Given the description of an element on the screen output the (x, y) to click on. 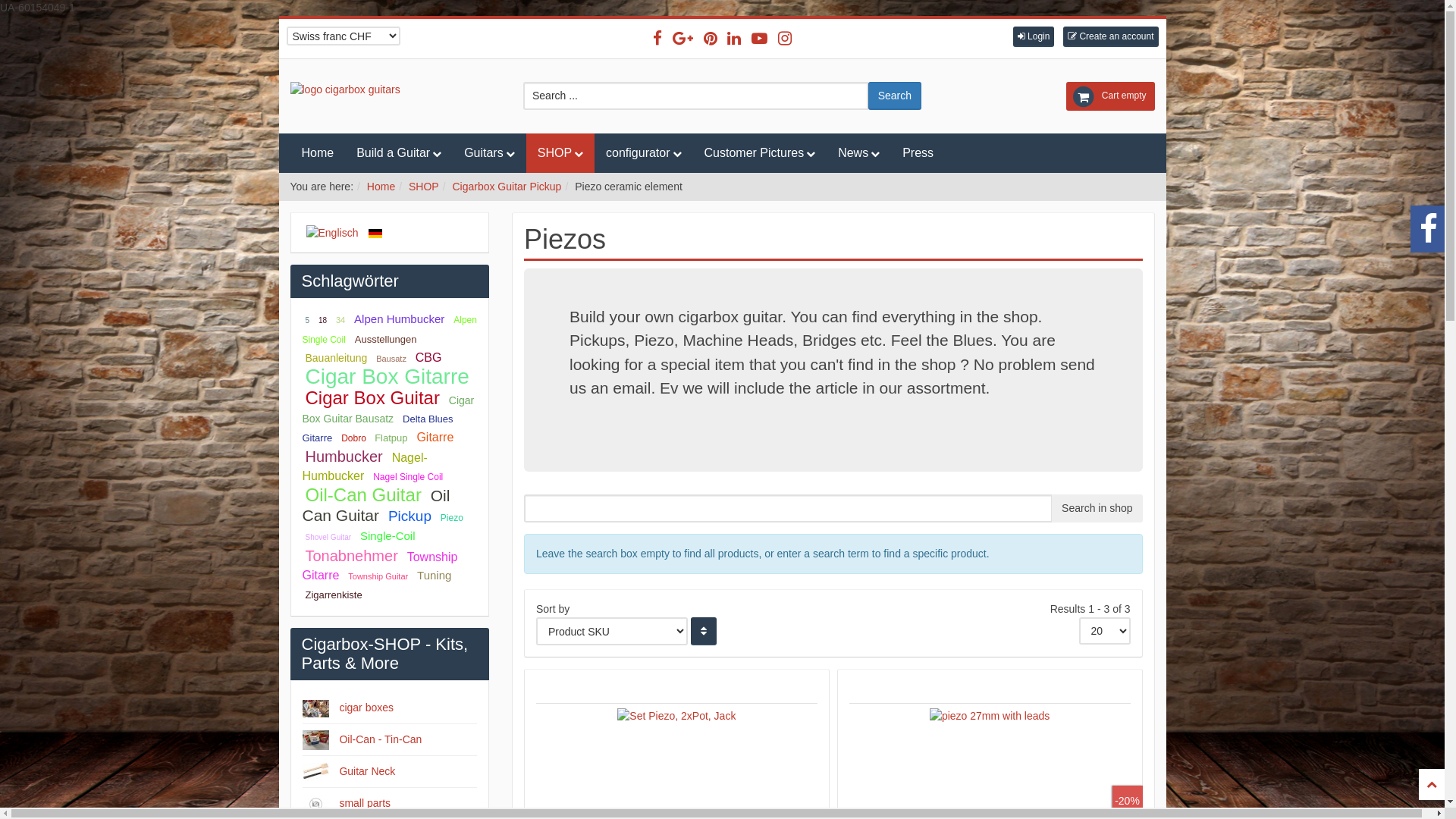
Pickup Element type: text (409, 515)
Create an account Element type: text (1110, 36)
Linkedin Element type: hover (733, 38)
configurator Element type: text (643, 153)
Pinterest Element type: hover (710, 38)
Cigar Box Guitar Element type: text (371, 397)
cigar boxes Element type: text (366, 707)
18 Element type: text (322, 320)
Cigarbox Guitar Pickup Element type: text (506, 186)
Build a Guitar Element type: text (398, 153)
Delta Blues Gitarre Element type: text (376, 428)
Customer Pictures Element type: text (760, 153)
Single-Coil Element type: text (387, 535)
Oil-Can Guitar Element type: text (362, 494)
Cigar Box Gitarre Element type: text (386, 376)
Zigarrenkiste Element type: text (333, 594)
logo cigarbox guitars Element type: hover (344, 89)
En Gb Element type: hover (333, 231)
Dobro Element type: text (354, 438)
Facebook Element type: hover (657, 38)
Gitarre Element type: text (434, 437)
CBG Element type: text (428, 357)
Bausatz Element type: text (390, 358)
Township Guitar Element type: text (377, 576)
Tuning Element type: text (433, 575)
SHOP Element type: text (423, 186)
Youtube Element type: hover (759, 38)
Ausstellungen Element type: text (385, 339)
Login Element type: text (1033, 36)
Nagel-Humbucker Element type: text (363, 466)
Deutsch Element type: hover (375, 233)
Home Element type: text (381, 186)
Oil-Can - Tin-Can Element type: text (380, 739)
small parts Element type: text (364, 803)
Flatpup Element type: text (390, 437)
Oil Can Guitar Element type: text (375, 505)
Google plus Element type: hover (682, 38)
News Element type: text (858, 153)
Home Element type: text (317, 153)
Cart empty Element type: text (1110, 95)
Guitar Neck Element type: text (366, 771)
Instagram Element type: hover (784, 38)
Nagel Single Coil Element type: text (407, 476)
Alpen Humbucker Element type: text (398, 318)
Cigar Box Guitar Bausatz Element type: text (387, 409)
Bauanleitung Element type: text (335, 357)
Shovel Guitar Element type: text (327, 536)
5 Element type: text (306, 320)
Search Element type: text (894, 95)
Englisch Element type: hover (332, 233)
Humbucker Element type: text (343, 456)
Logo Cigarbox Guitars Element type: hover (389, 89)
Alpen Single Coil Element type: text (388, 329)
Page Element type: hover (1431, 784)
Township Gitarre Element type: text (379, 566)
Tonabnehmer Element type: text (350, 555)
Press Element type: text (917, 153)
De Element type: hover (375, 231)
SHOP Element type: text (560, 153)
Piezo Element type: text (451, 517)
Search in shop Element type: text (1096, 508)
Guitars Element type: text (489, 153)
34 Element type: text (340, 319)
